Given the description of an element on the screen output the (x, y) to click on. 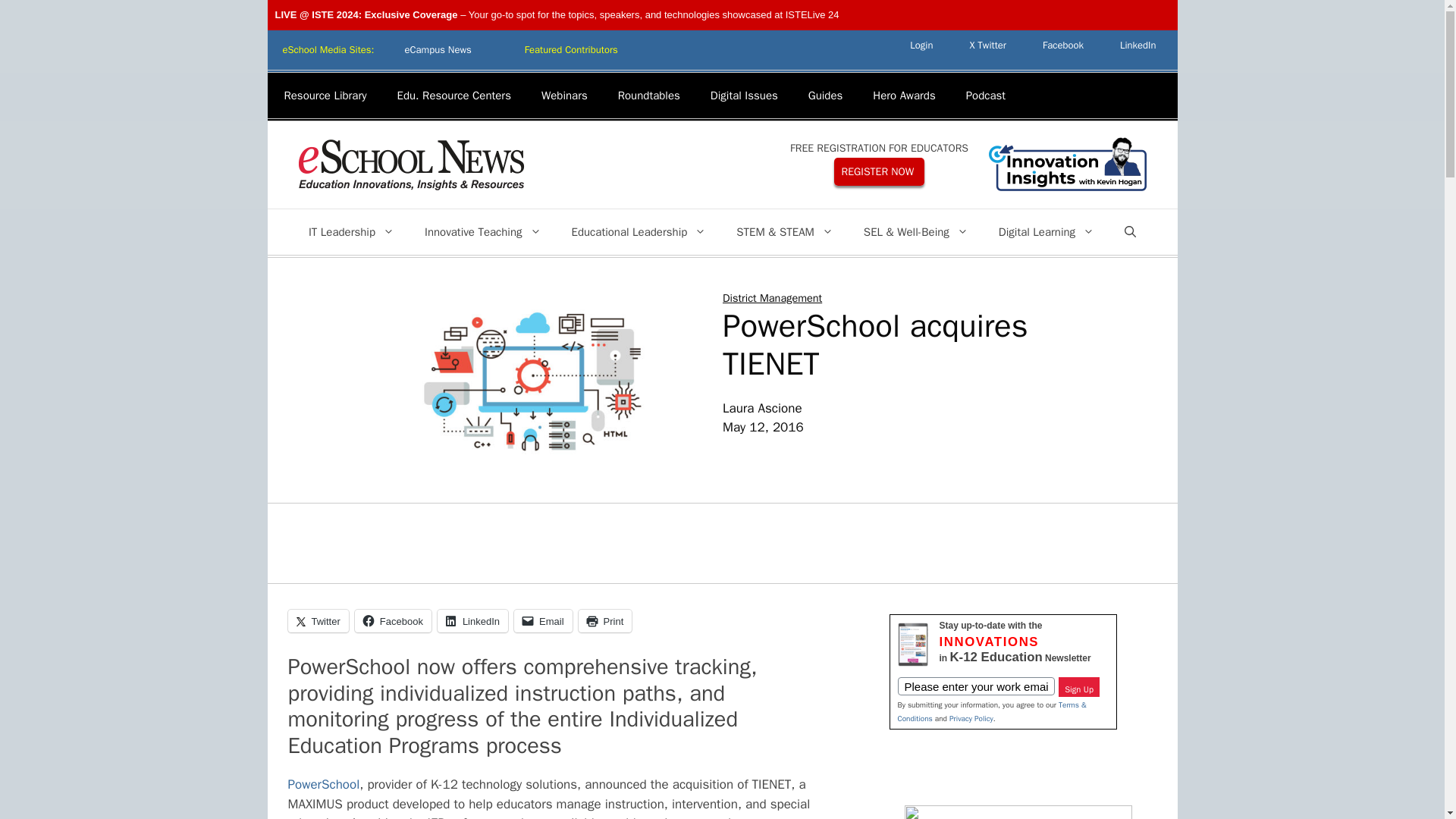
eClassroom News (571, 50)
Login (921, 45)
Hero Awards (903, 94)
Twitter (987, 45)
Featured Contributors (571, 50)
Facebook (1063, 45)
Webinars (563, 94)
View all posts by Laura Ascione (762, 408)
eSchool News (410, 163)
eSchool News (410, 164)
LinkedIn (1138, 45)
Click to share on Facebook (392, 620)
Click to share on Twitter (318, 620)
eCampus News (437, 50)
LinkedIn (1138, 45)
